Given the description of an element on the screen output the (x, y) to click on. 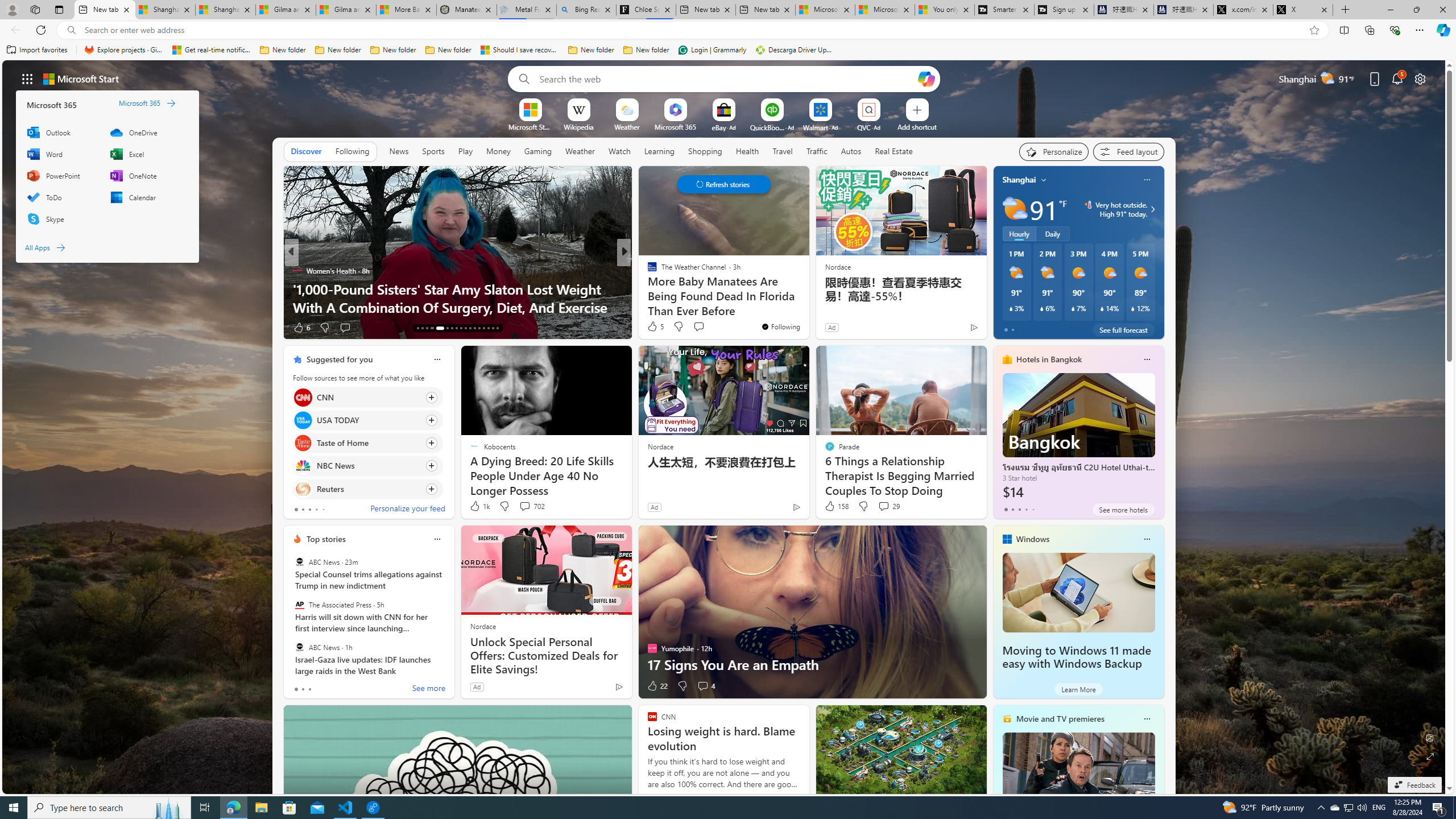
See more hotels (1123, 509)
Moving to Windows 11 made easy with Windows Backup (1077, 592)
View comments 7 Comment (698, 327)
Indy 100 (647, 270)
View comments 6 Comment (703, 327)
Taste of Home (302, 443)
